Given the description of an element on the screen output the (x, y) to click on. 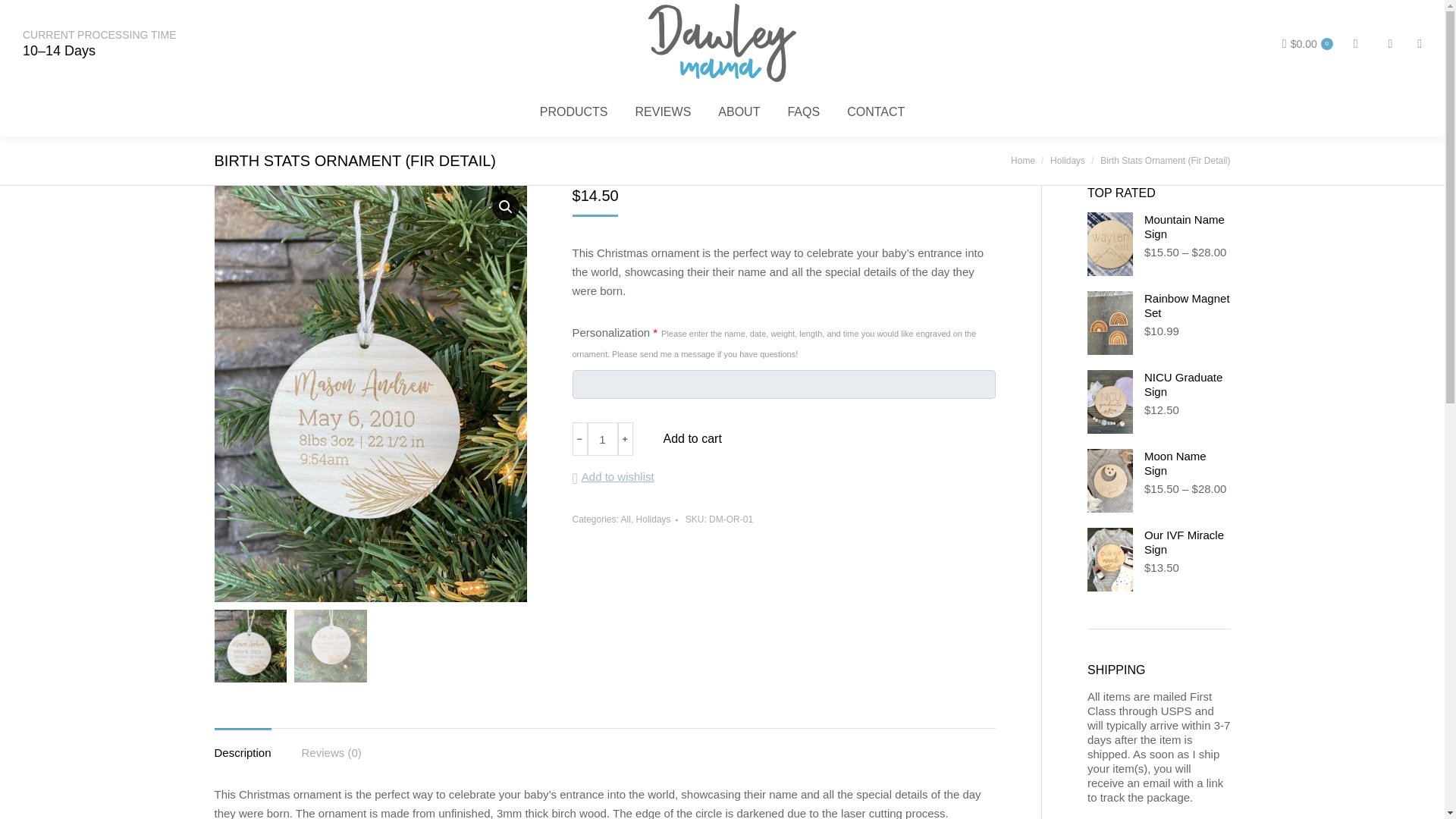
PRODUCTS (574, 111)
CONTACT (875, 111)
1 (601, 438)
All (625, 519)
Holidays (1066, 160)
Home (1022, 160)
FAQS (803, 111)
REVIEWS (662, 111)
Add to wishlist (612, 476)
Holidays (1066, 160)
